Given the description of an element on the screen output the (x, y) to click on. 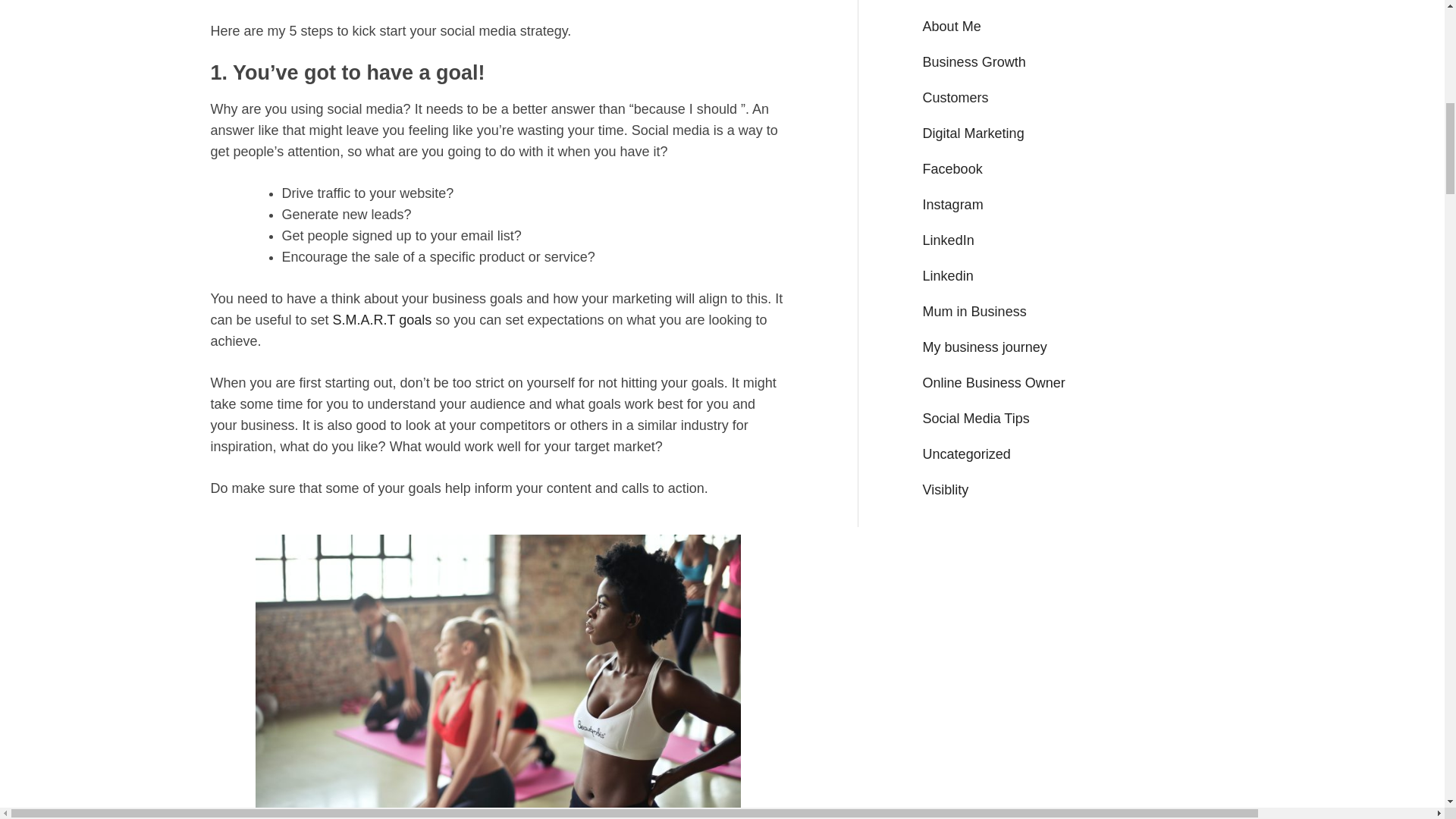
S.M.A.R.T goals (382, 319)
